Given the description of an element on the screen output the (x, y) to click on. 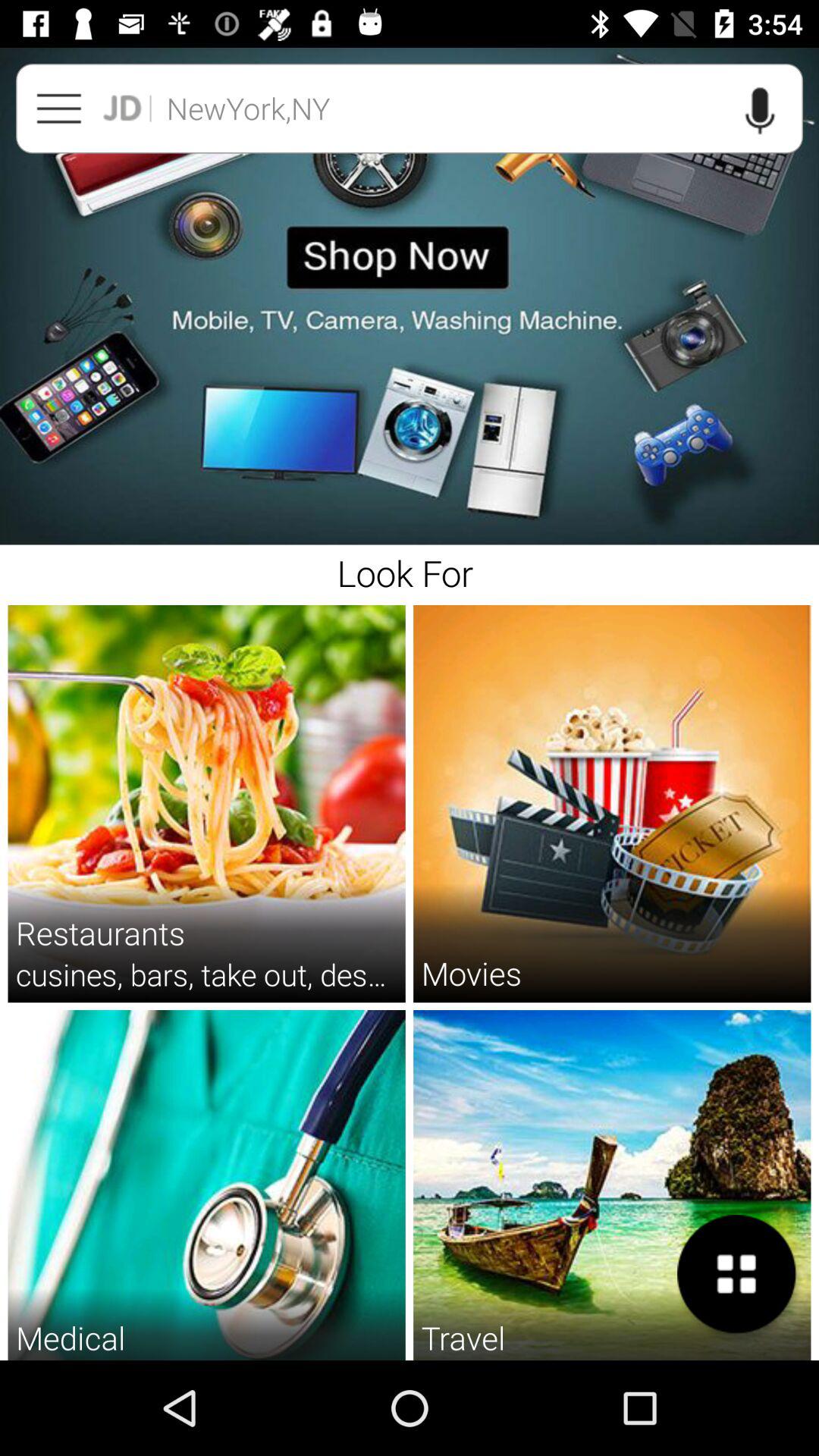
launch the icon above the flights hotels cruises icon (737, 1274)
